Given the description of an element on the screen output the (x, y) to click on. 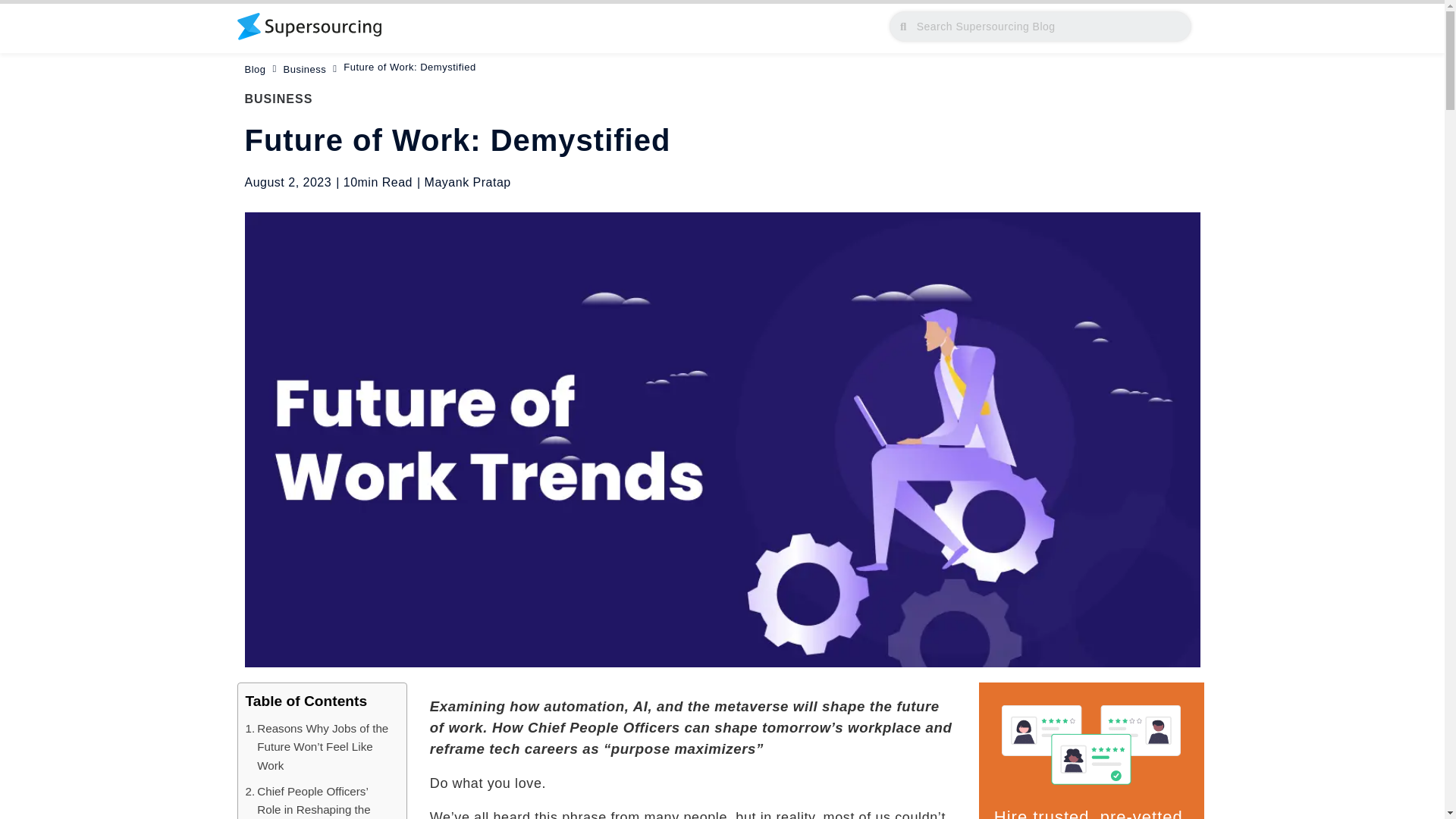
Blog (254, 69)
Business (304, 69)
Blog (254, 69)
Future of Work: Demystified (460, 67)
BUSINESS (278, 98)
Search (1047, 26)
August 2, 2023 (287, 182)
